Given the description of an element on the screen output the (x, y) to click on. 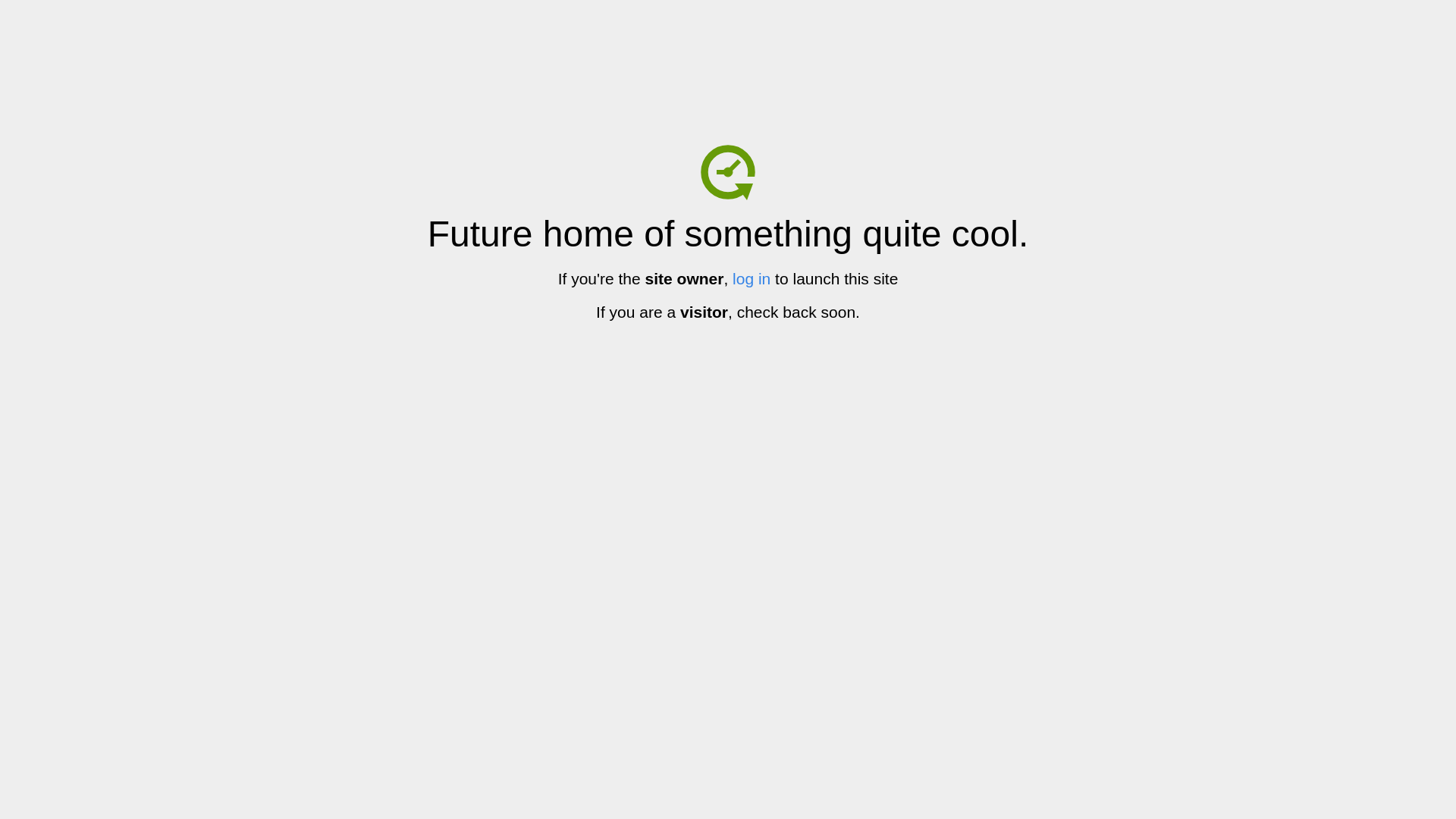
log in Element type: text (751, 278)
